Given the description of an element on the screen output the (x, y) to click on. 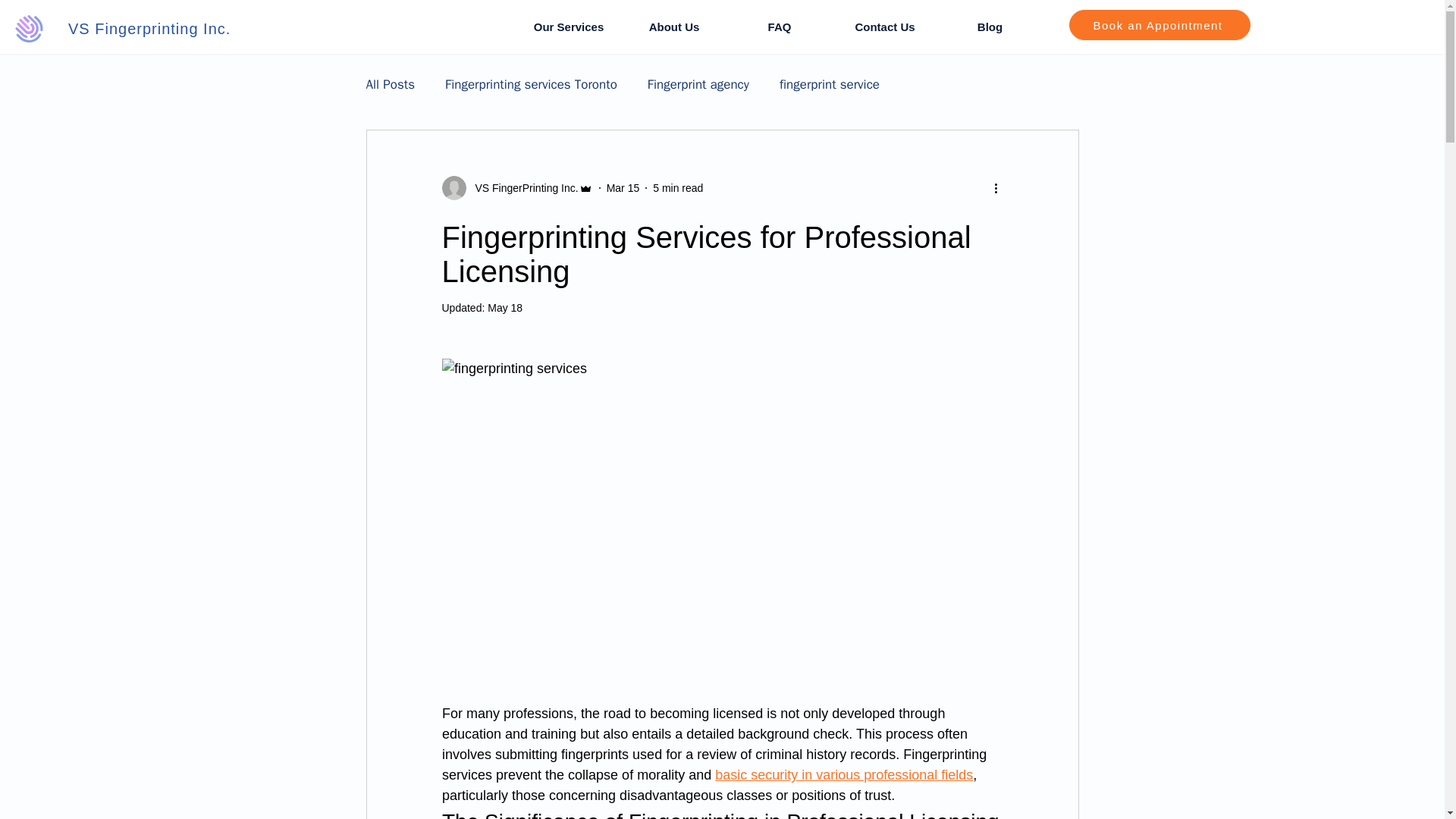
VS Fingerprinting Inc. (149, 28)
Contact Us (884, 26)
May 18 (504, 307)
fingerprint service (828, 84)
Fingerprint agency (698, 84)
Mar 15 (623, 187)
Book an Appointment (1159, 24)
FAQ (778, 26)
VS FingerPrinting Inc. (521, 188)
Our Services (568, 26)
VS FingerPrinting Inc. (516, 187)
All Posts (389, 84)
basic security in various professional fields (843, 774)
5 min read (677, 187)
Blog (989, 26)
